Given the description of an element on the screen output the (x, y) to click on. 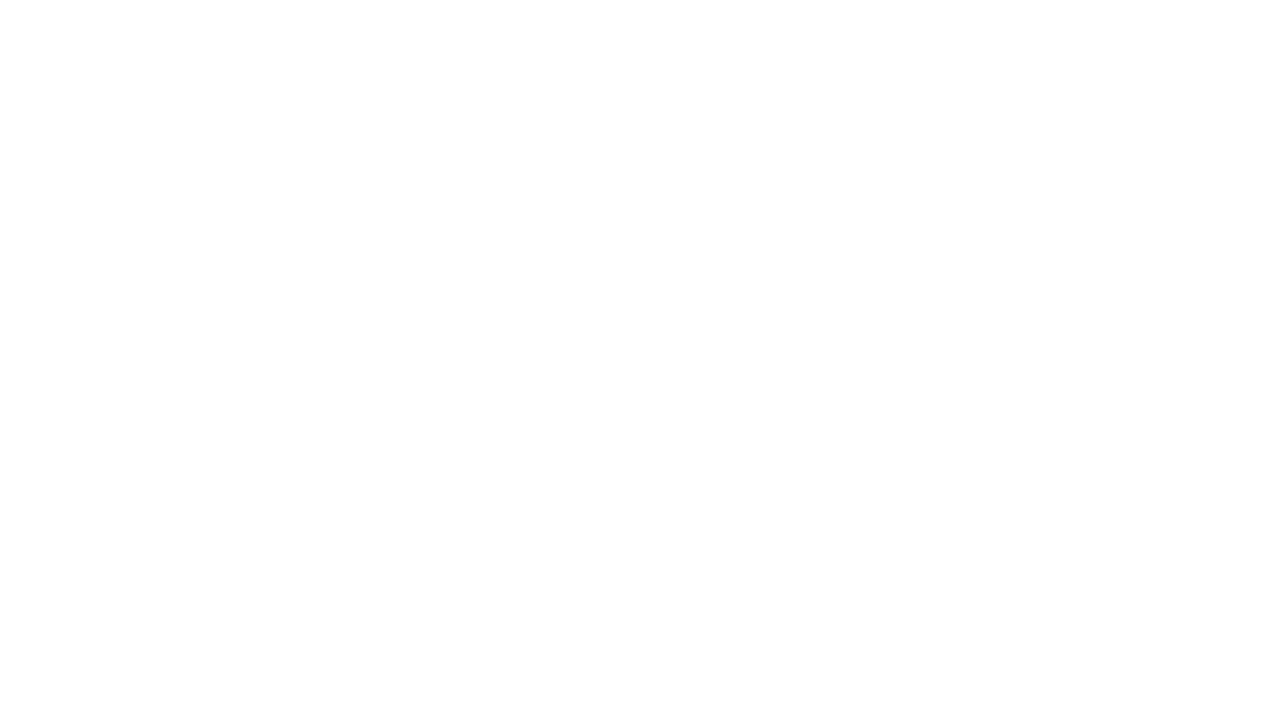
Replace All (42, 123)
Replace (42, 96)
Context help (1206, 14)
Find Next (42, 44)
